Given the description of an element on the screen output the (x, y) to click on. 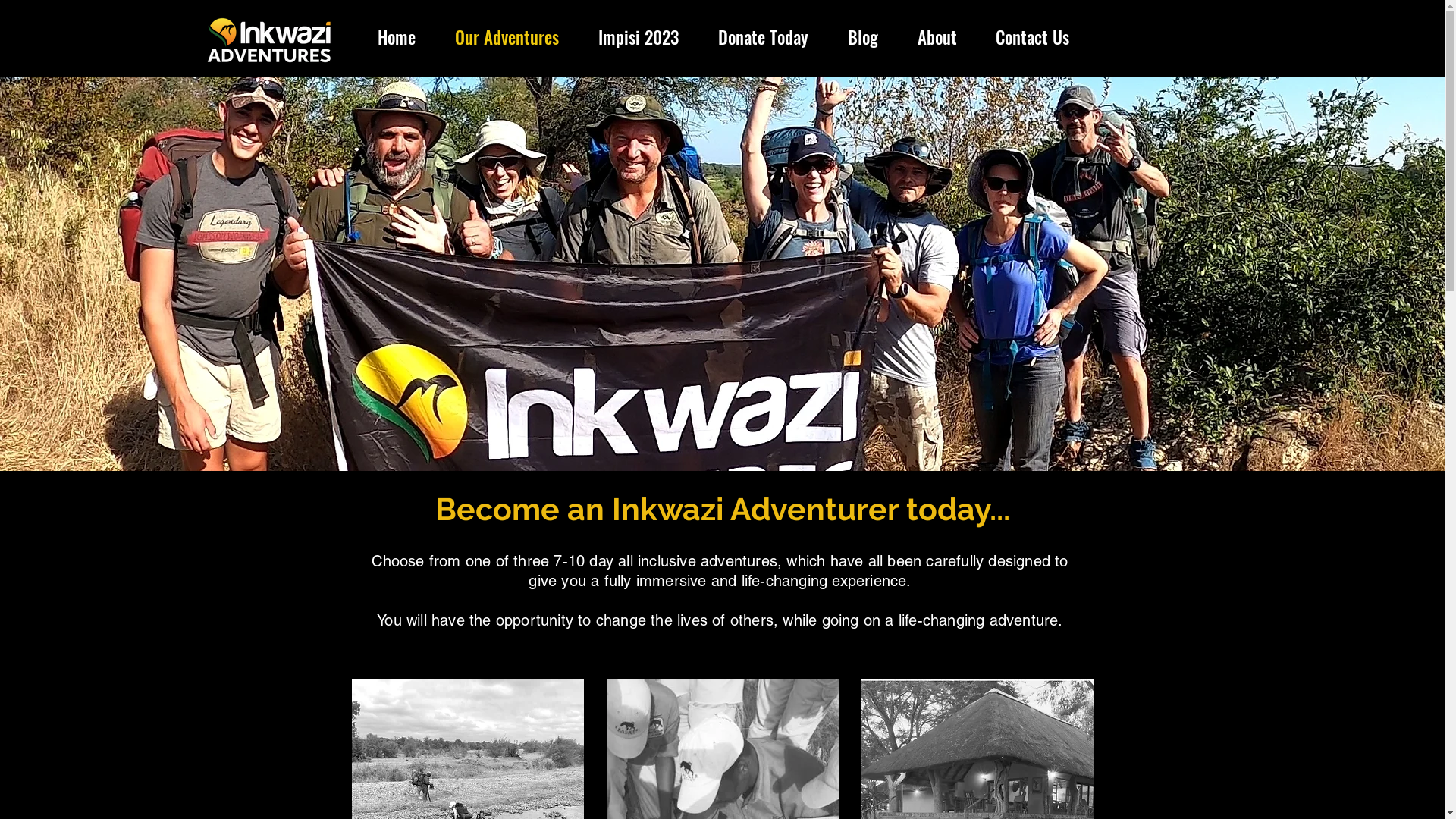
Home Element type: text (396, 36)
Impisi 2023 Element type: text (637, 36)
Donate Today Element type: text (762, 36)
Our Adventures Element type: text (506, 36)
Contact Us Element type: text (1032, 36)
Blog Element type: text (862, 36)
